Given the description of an element on the screen output the (x, y) to click on. 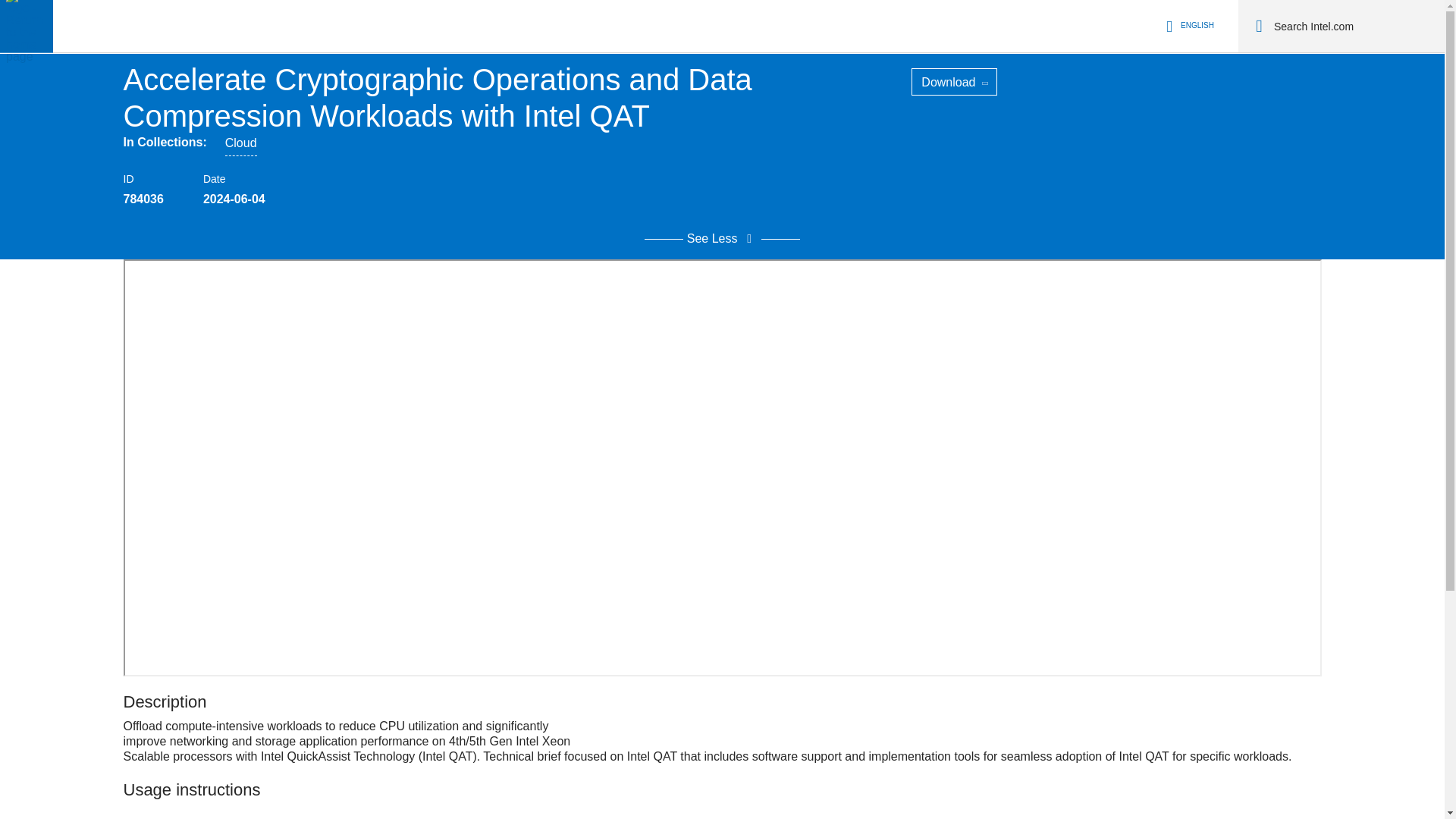
ENGLISH (1187, 26)
Language Selector (1187, 26)
Search (1259, 26)
